Given the description of an element on the screen output the (x, y) to click on. 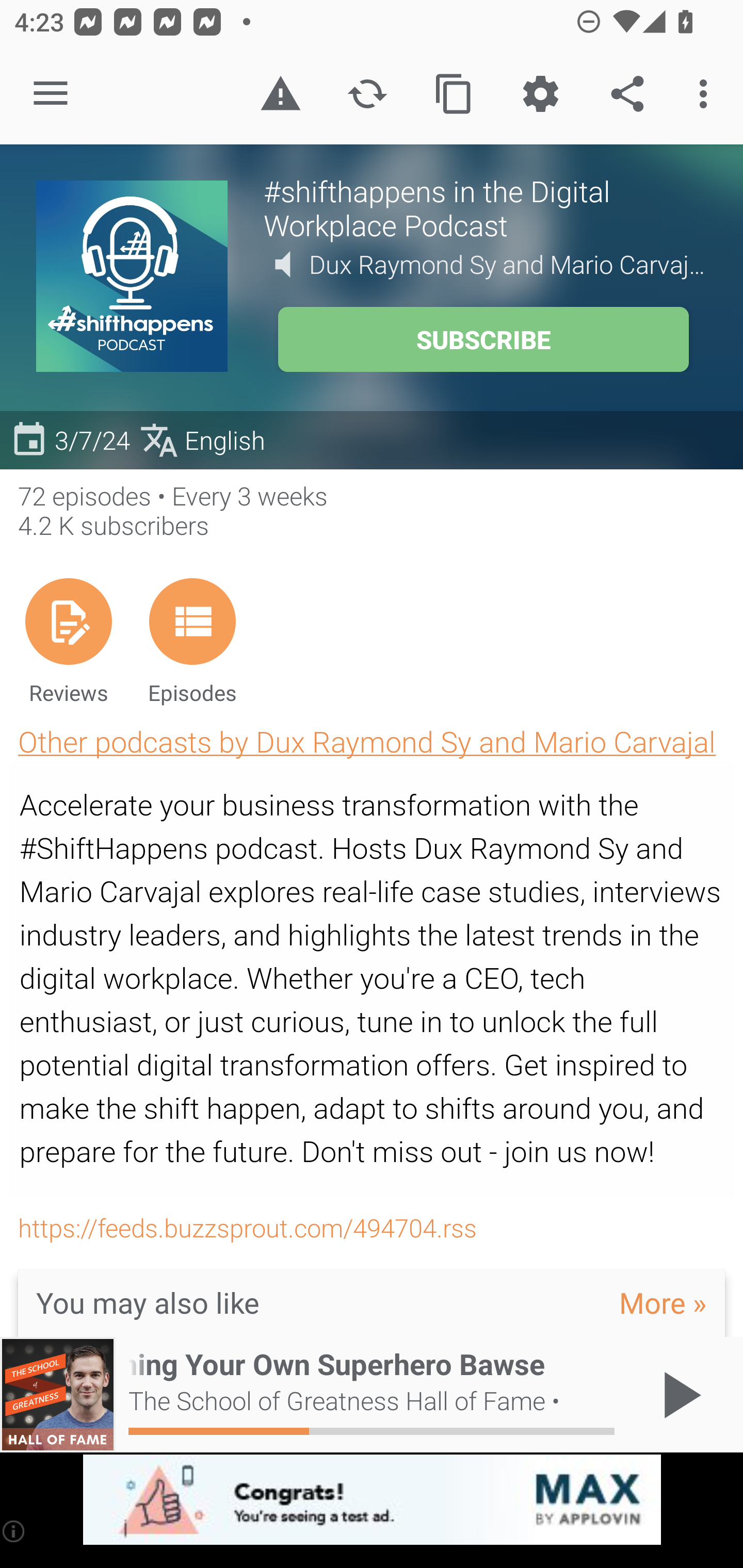
Open navigation sidebar (50, 93)
Report inappropriate content (280, 93)
Refresh podcast description (366, 93)
Copy feed url to clipboard (453, 93)
Custom Settings (540, 93)
Share the podcast (626, 93)
More options (706, 93)
#shifthappens in the Digital Workplace Podcast (484, 207)
Dux Raymond Sy and Mario Carvajal (507, 263)
SUBSCRIBE (482, 339)
Reviews (68, 640)
Episodes (192, 640)
More » (662, 1301)
Play / Pause (677, 1394)
app-monetization (371, 1500)
(i) (14, 1531)
